Given the description of an element on the screen output the (x, y) to click on. 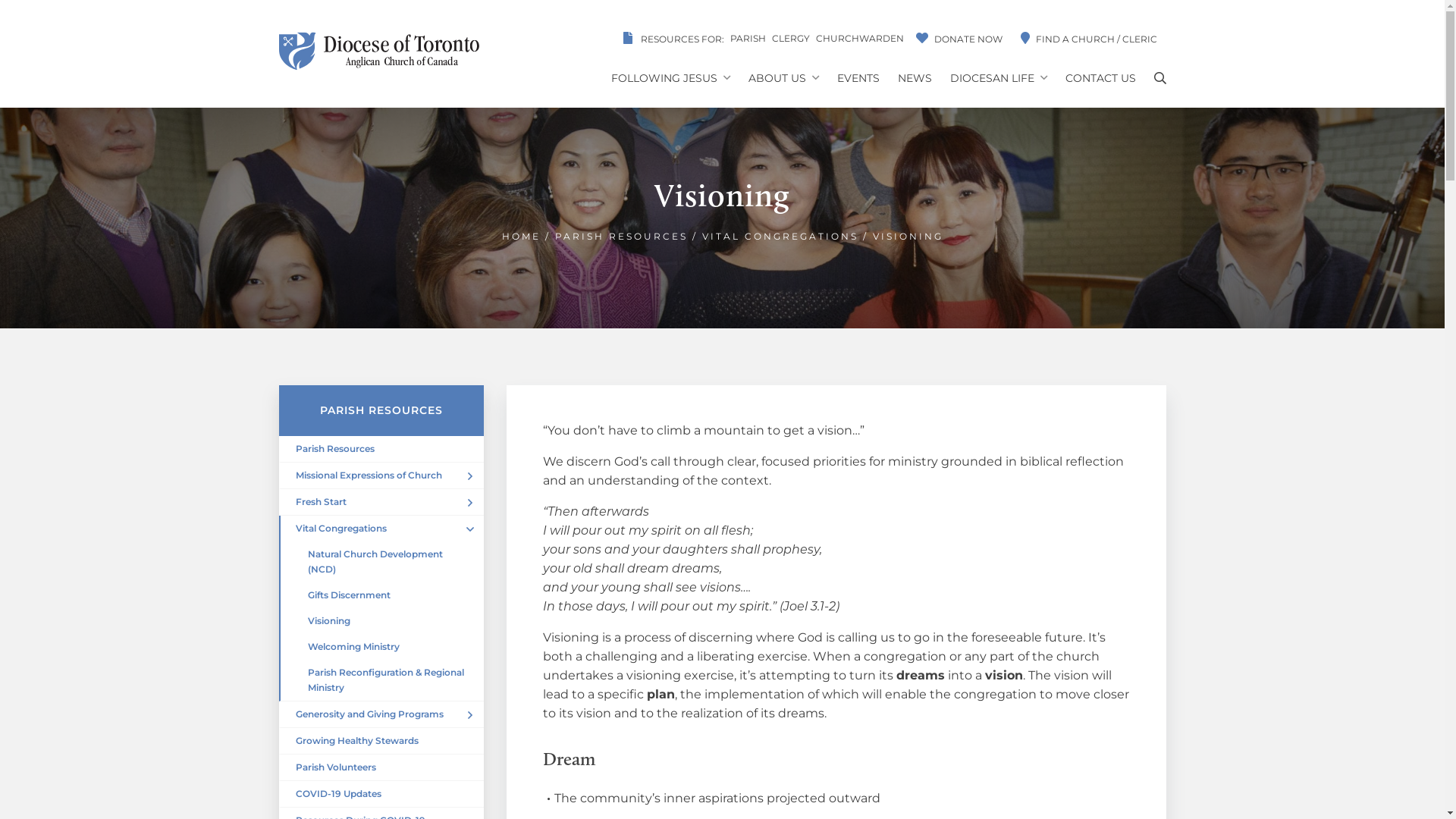
Parish Volunteers Element type: text (381, 767)
Generosity and Giving Programs Element type: text (381, 714)
Missional Expressions of Church Element type: text (381, 475)
DIOCESAN LIFE Element type: text (997, 78)
CLERGY Element type: text (790, 37)
Parish Reconfiguration & Regional Ministry Element type: text (381, 680)
CHURCHWARDEN Element type: text (859, 37)
PARISH RESOURCES Element type: text (621, 235)
CONTACT US Element type: text (1099, 78)
Fresh Start Element type: text (381, 502)
HOME Element type: text (521, 235)
COVID-19 Updates Element type: text (381, 794)
ABOUT US Element type: text (782, 78)
Vital Congregations Element type: text (381, 528)
NEWS Element type: text (914, 78)
FOLLOWING JESUS Element type: text (670, 78)
Gifts Discernment Element type: text (381, 595)
PARISH Element type: text (747, 37)
Natural Church Development (NCD) Element type: text (381, 561)
Welcoming Ministry Element type: text (381, 646)
Growing Healthy Stewards Element type: text (381, 741)
EVENTS Element type: text (858, 78)
Skip To Content Element type: text (0, 89)
FIND A CHURCH / CLERIC Element type: text (1088, 37)
DONATE NOW Element type: text (958, 37)
Visioning Element type: text (381, 620)
VITAL CONGREGATIONS Element type: text (780, 235)
Parish Resources Element type: text (381, 449)
